Given the description of an element on the screen output the (x, y) to click on. 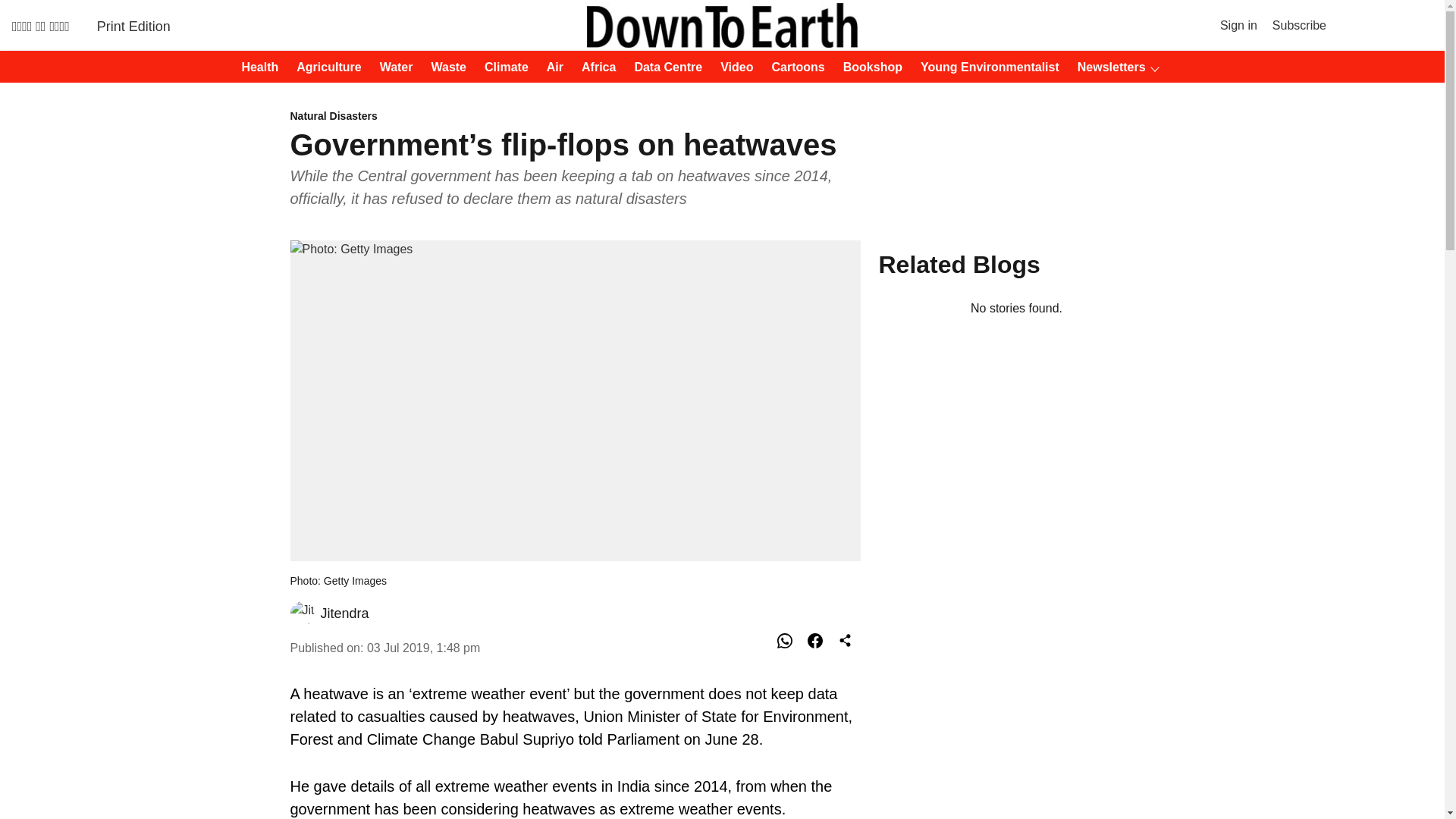
Jitendra (344, 613)
Agriculture (323, 67)
2019-07-03 05:48 (423, 647)
Climate (502, 67)
Cartoons (793, 67)
Waste (443, 67)
Data Centre (662, 67)
Water (392, 67)
Video (731, 67)
Health (254, 67)
Bookshop (868, 67)
Young Environmentalist (985, 67)
Natural Disasters (574, 116)
Print Edition (133, 26)
Africa (593, 67)
